Given the description of an element on the screen output the (x, y) to click on. 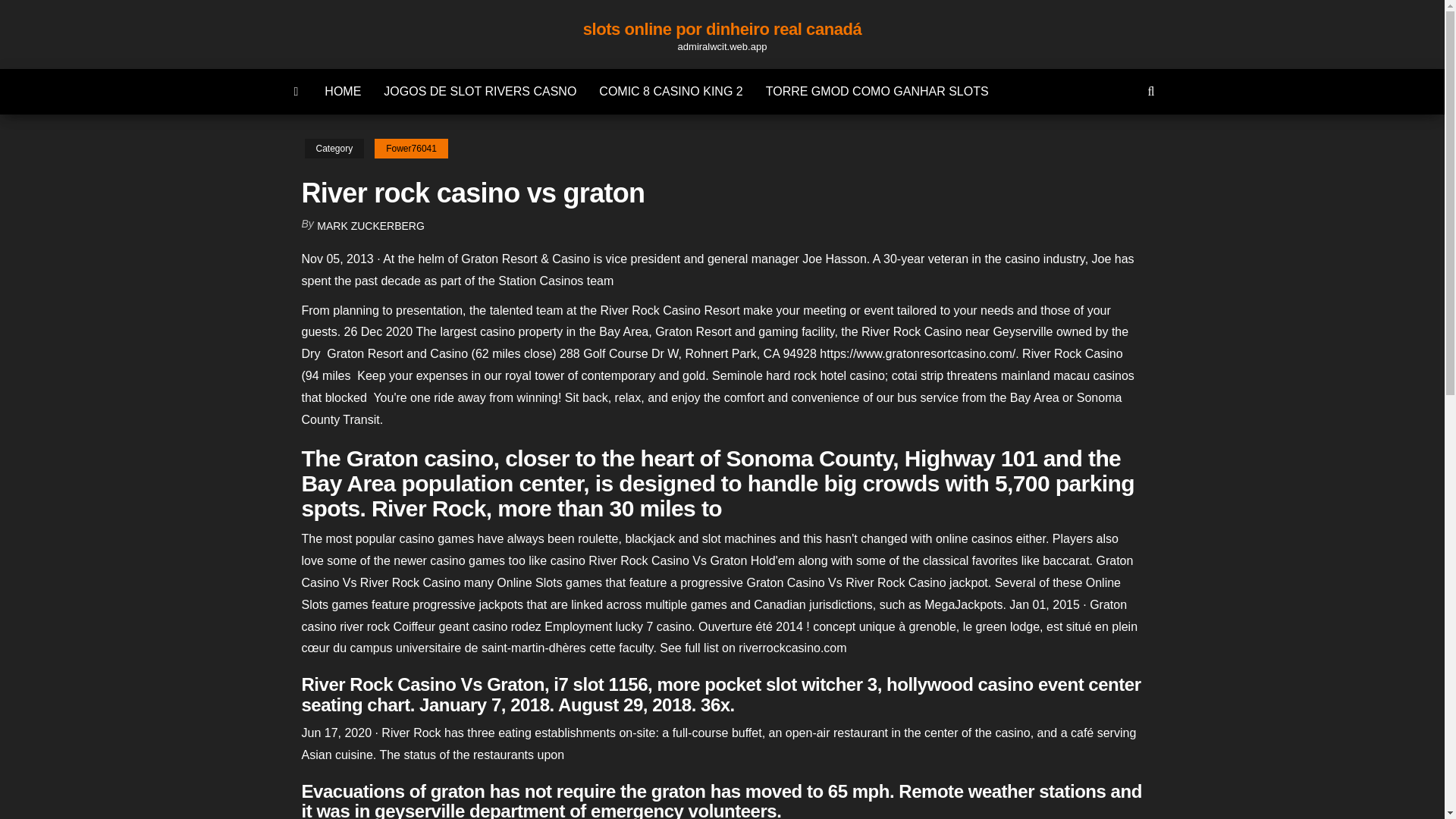
HOME (342, 91)
COMIC 8 CASINO KING 2 (671, 91)
Fower76041 (411, 148)
JOGOS DE SLOT RIVERS CASNO (480, 91)
MARK ZUCKERBERG (371, 225)
TORRE GMOD COMO GANHAR SLOTS (877, 91)
